Given the description of an element on the screen output the (x, y) to click on. 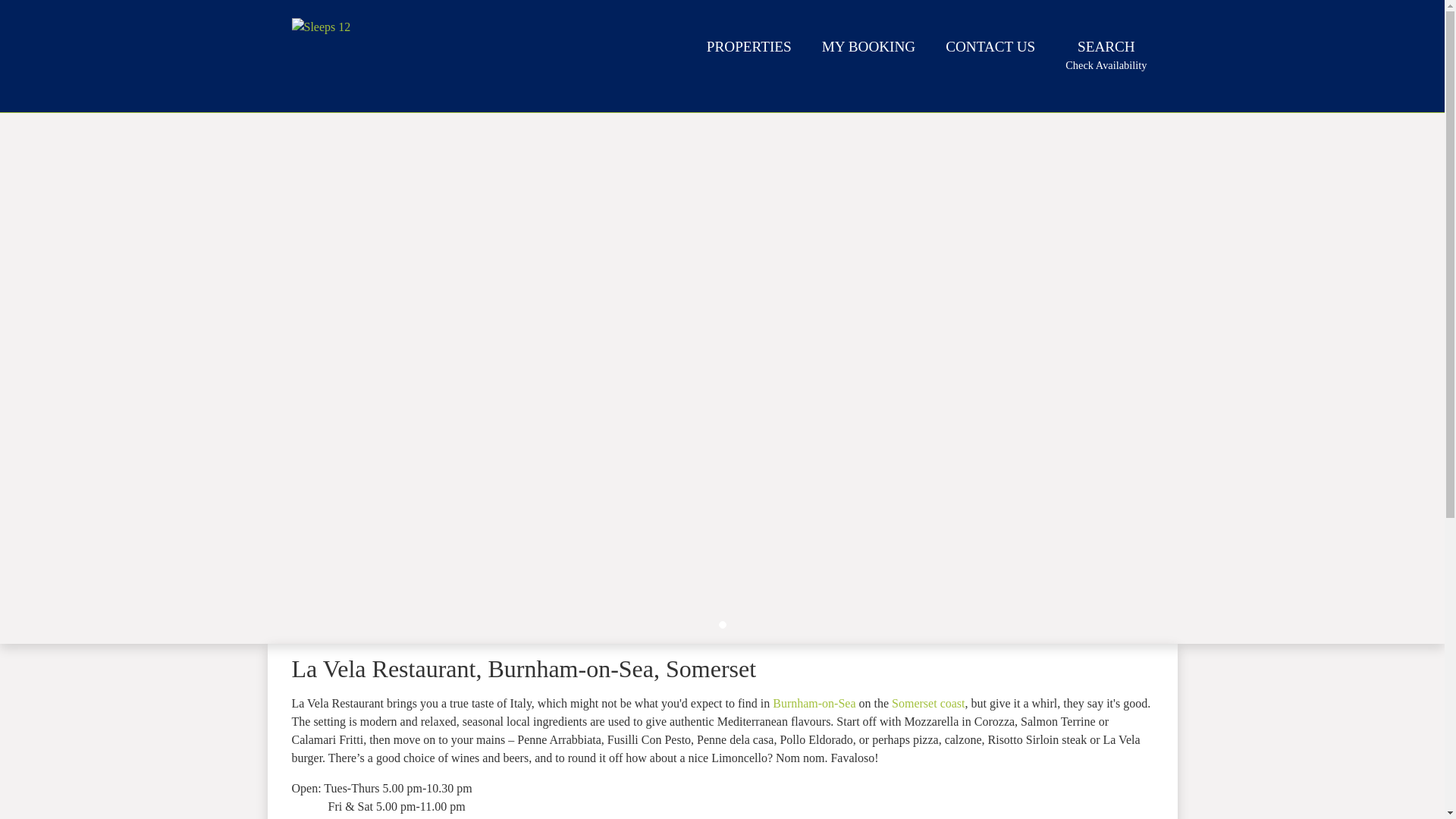
Burnham-on-Sea (814, 703)
MY BOOKING (1106, 55)
CONTACT US (868, 48)
PROPERTIES (990, 48)
Somerset coast (748, 48)
